Given the description of an element on the screen output the (x, y) to click on. 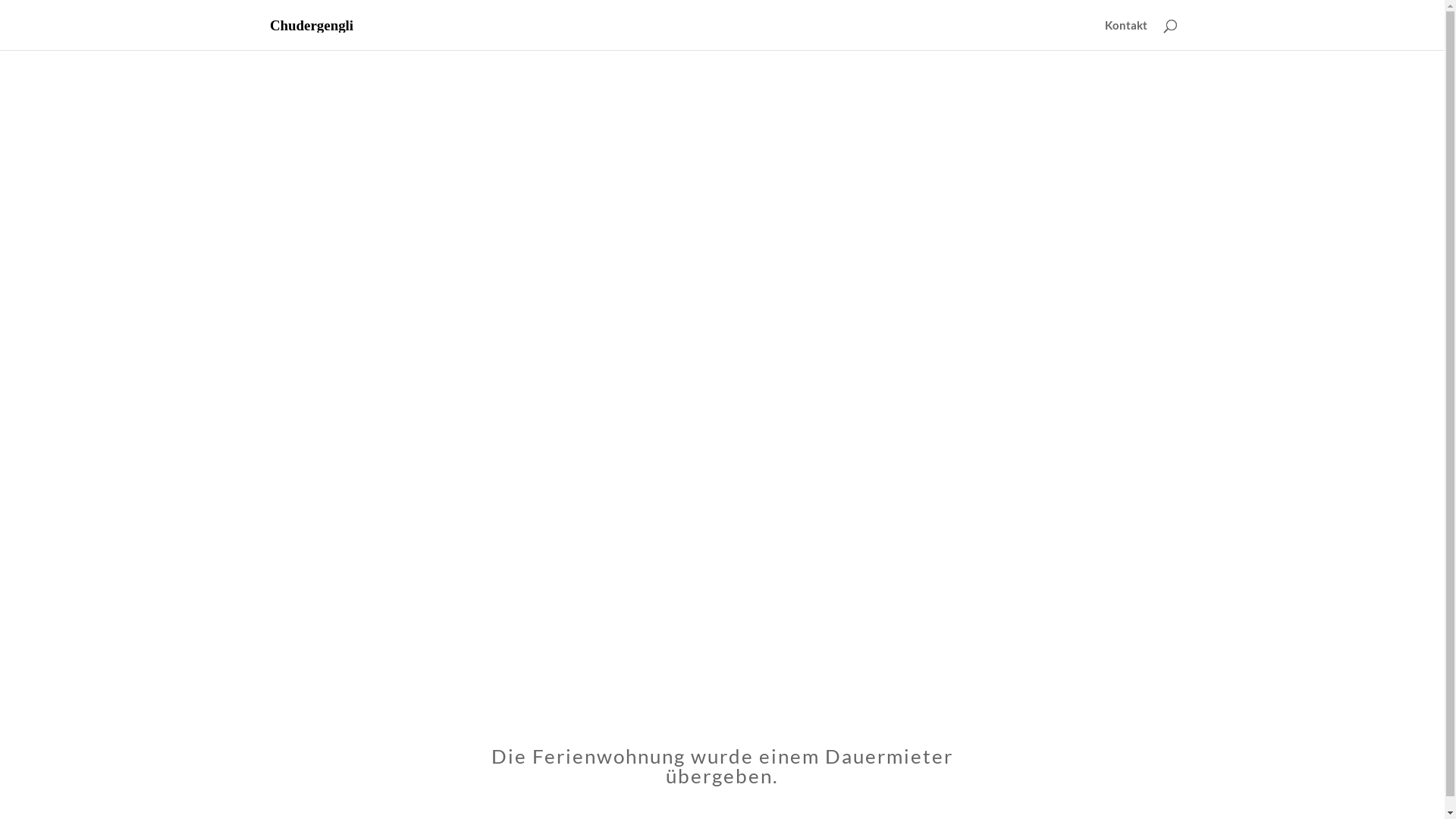
Kontakt Element type: text (1125, 34)
1 Element type: text (681, 549)
4 Element type: text (720, 549)
3 Element type: text (707, 549)
6 Element type: text (746, 549)
7 Element type: text (759, 549)
2 Element type: text (693, 549)
5 Element type: text (733, 549)
